Given the description of an element on the screen output the (x, y) to click on. 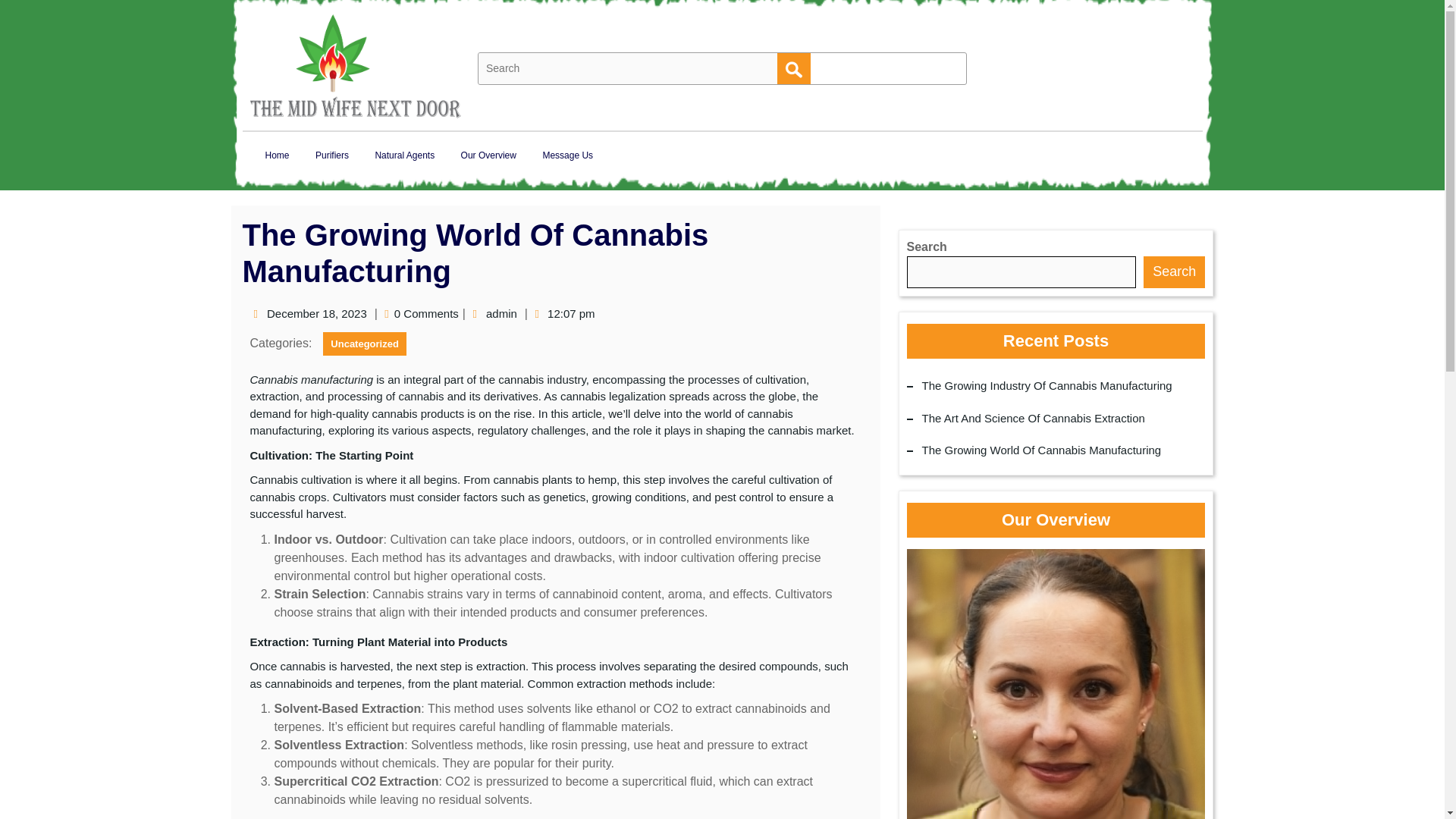
Search (793, 68)
Our Overview (488, 155)
Search (793, 68)
Purifiers (331, 155)
Home (276, 155)
December 18, 2023 (317, 313)
The Growing Industry Of Cannabis Manufacturing (1046, 385)
Natural Agents (403, 155)
Uncategorized (364, 343)
The Growing World Of Cannabis Manufacturing (1041, 450)
